Given the description of an element on the screen output the (x, y) to click on. 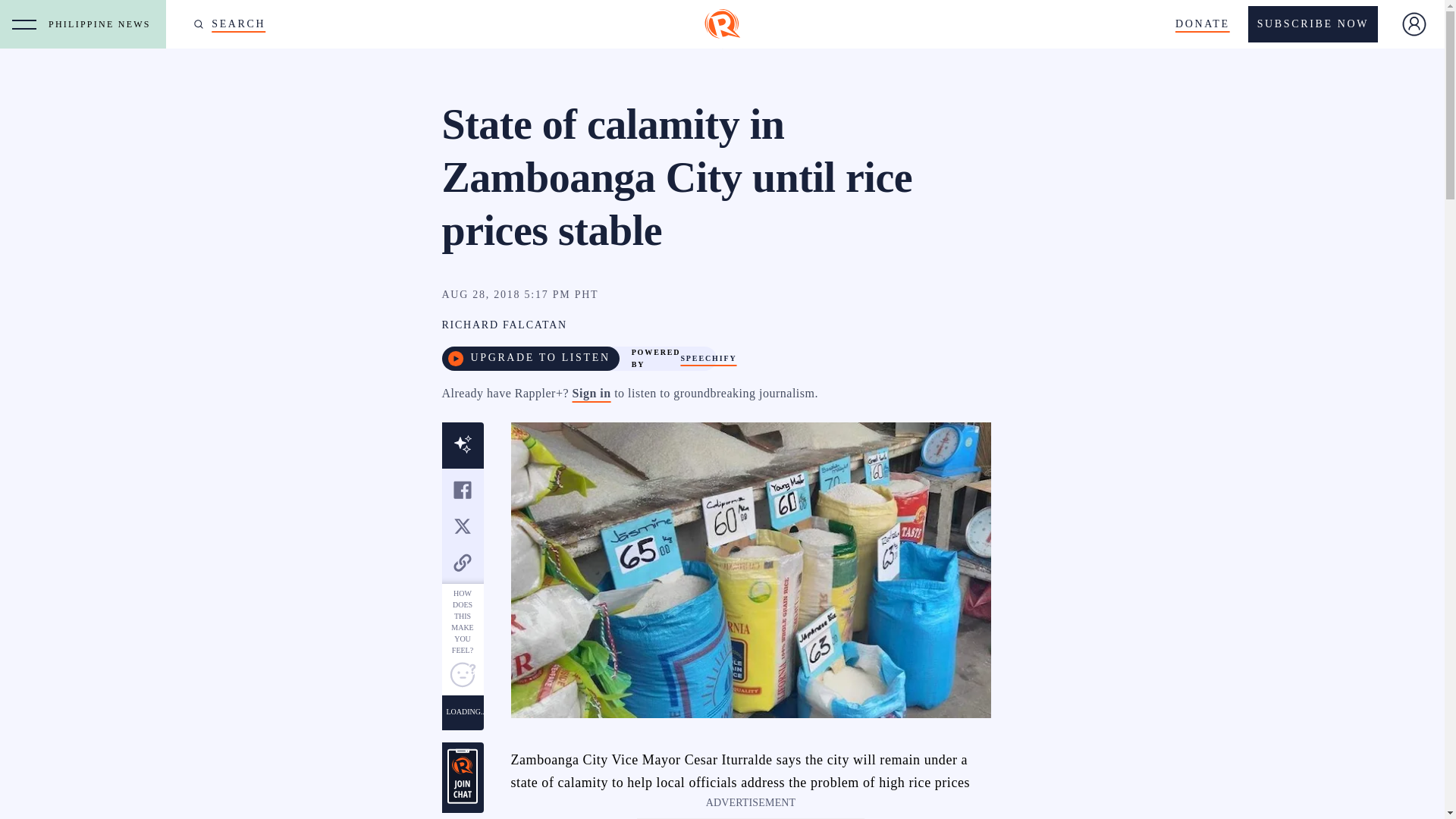
PHILIPPINE NEWS (103, 23)
OPEN NAVIGATION (24, 24)
